Given the description of an element on the screen output the (x, y) to click on. 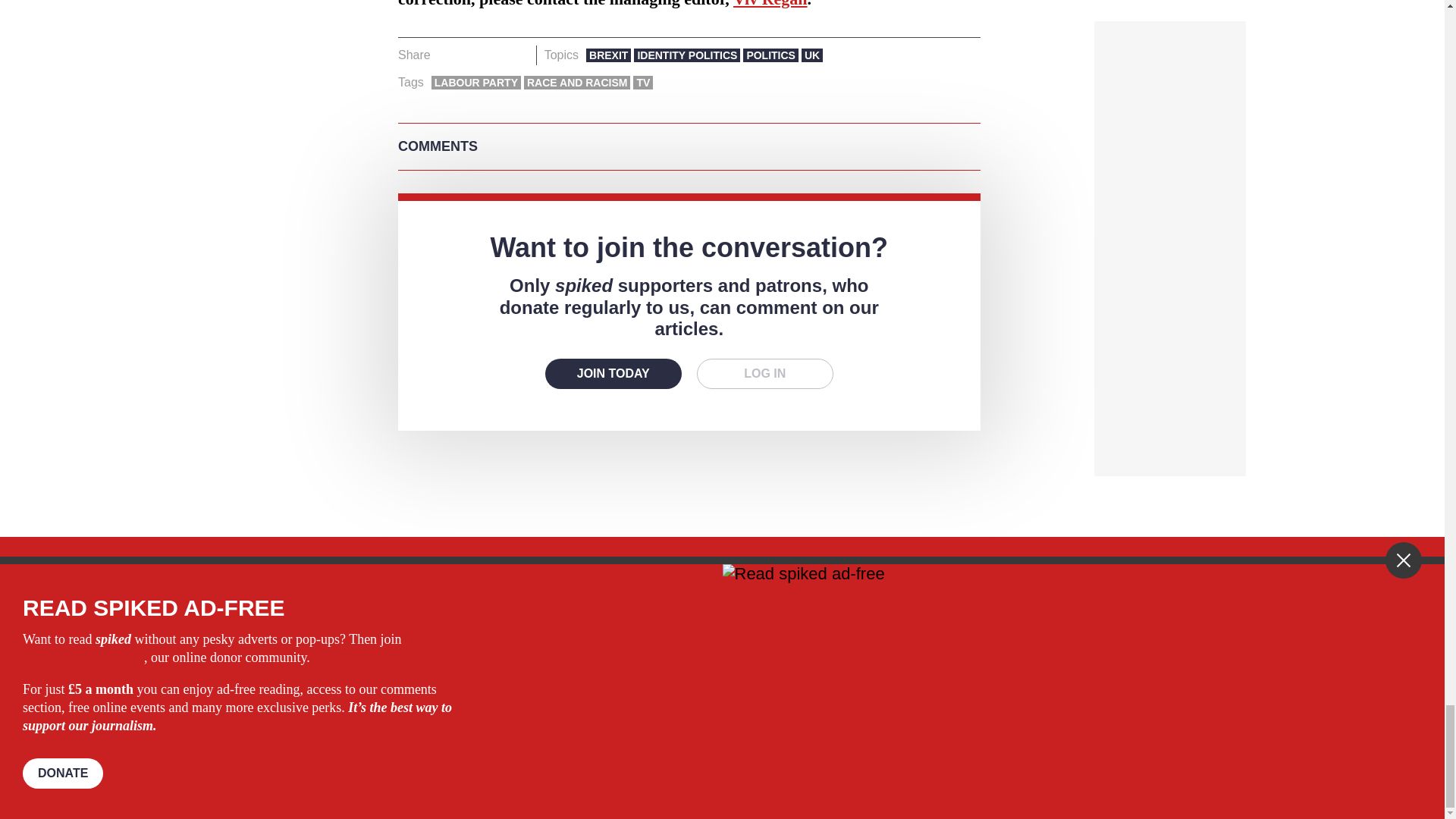
Share on Facebook (448, 55)
Share on Email (518, 55)
Share on Whatsapp (494, 55)
Share on Twitter (471, 55)
